Given the description of an element on the screen output the (x, y) to click on. 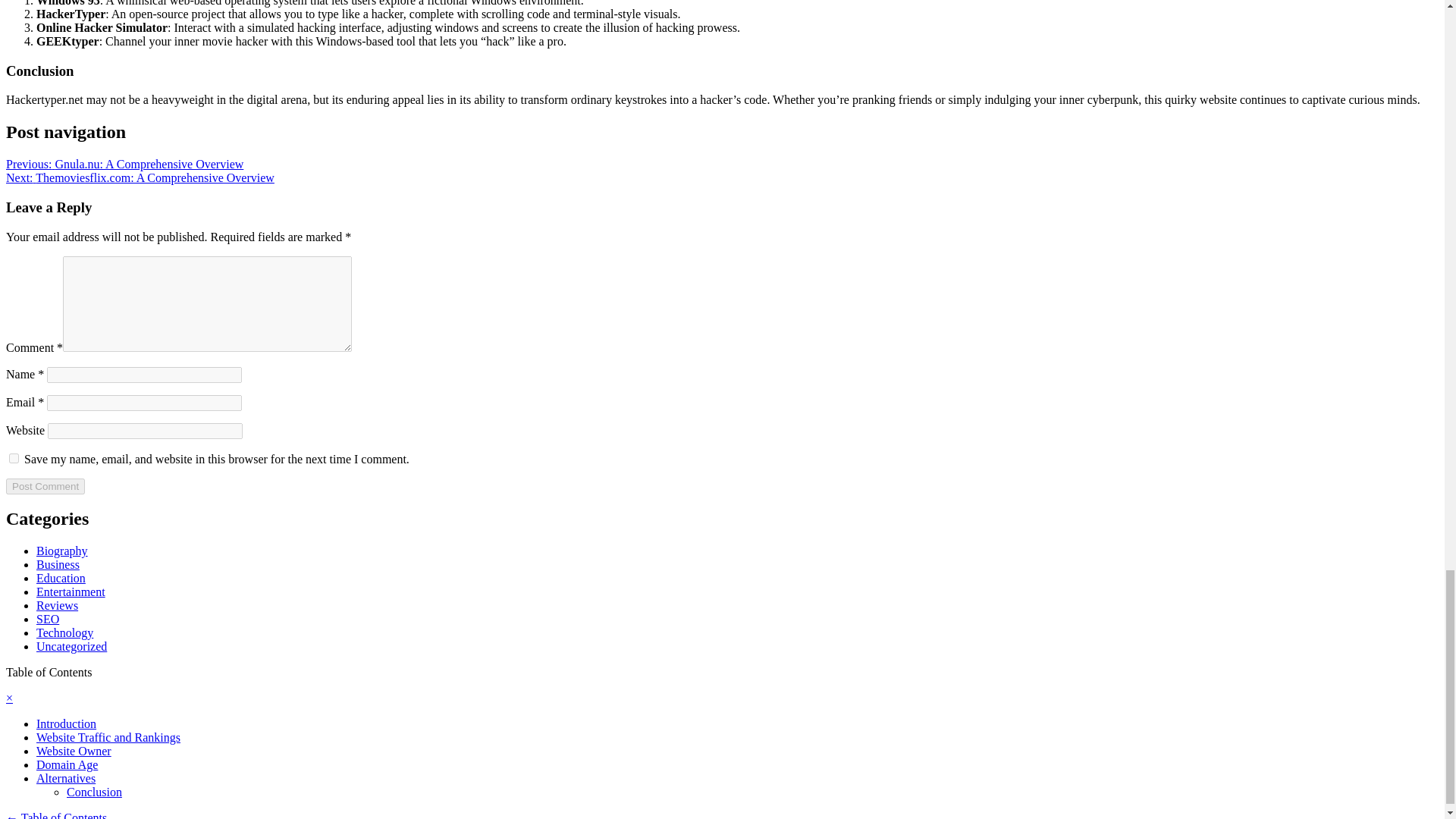
Alternatives (66, 778)
Domain Age (66, 764)
Website Traffic and Rankings (108, 737)
Website Owner (74, 750)
yes (13, 458)
Post Comment (44, 486)
Introduction (66, 723)
Conclusion (94, 791)
